Given the description of an element on the screen output the (x, y) to click on. 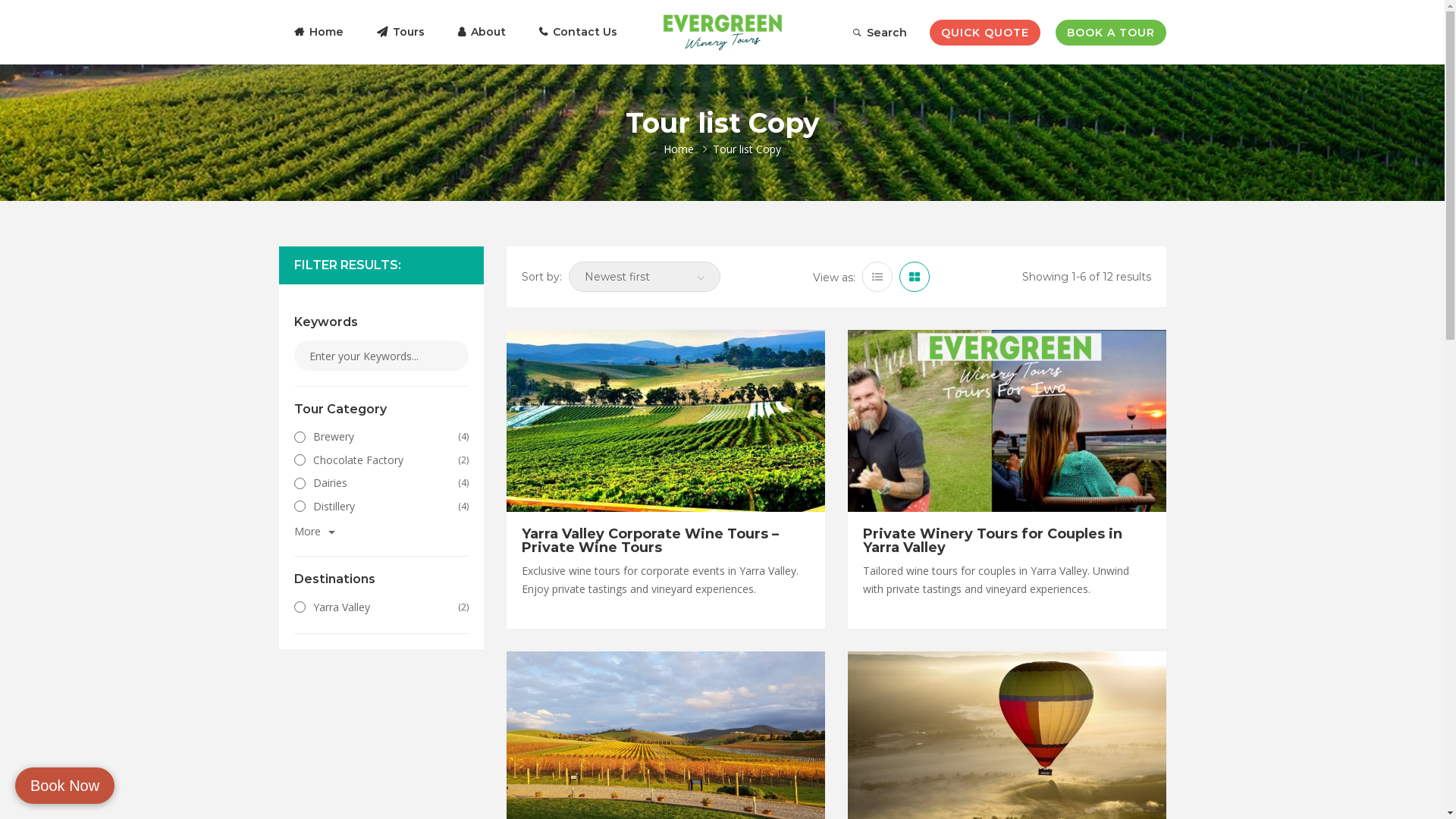
BOOK A TOUR Element type: text (1110, 32)
Home Element type: text (318, 32)
Private Winery Tours for Couples in Yarra Valley Element type: text (992, 540)
Tours Element type: text (399, 32)
Book Now Element type: text (64, 785)
Home Element type: text (679, 148)
QUICK QUOTE Element type: text (984, 32)
Contact Us Element type: text (577, 32)
About Element type: text (481, 32)
